Given the description of an element on the screen output the (x, y) to click on. 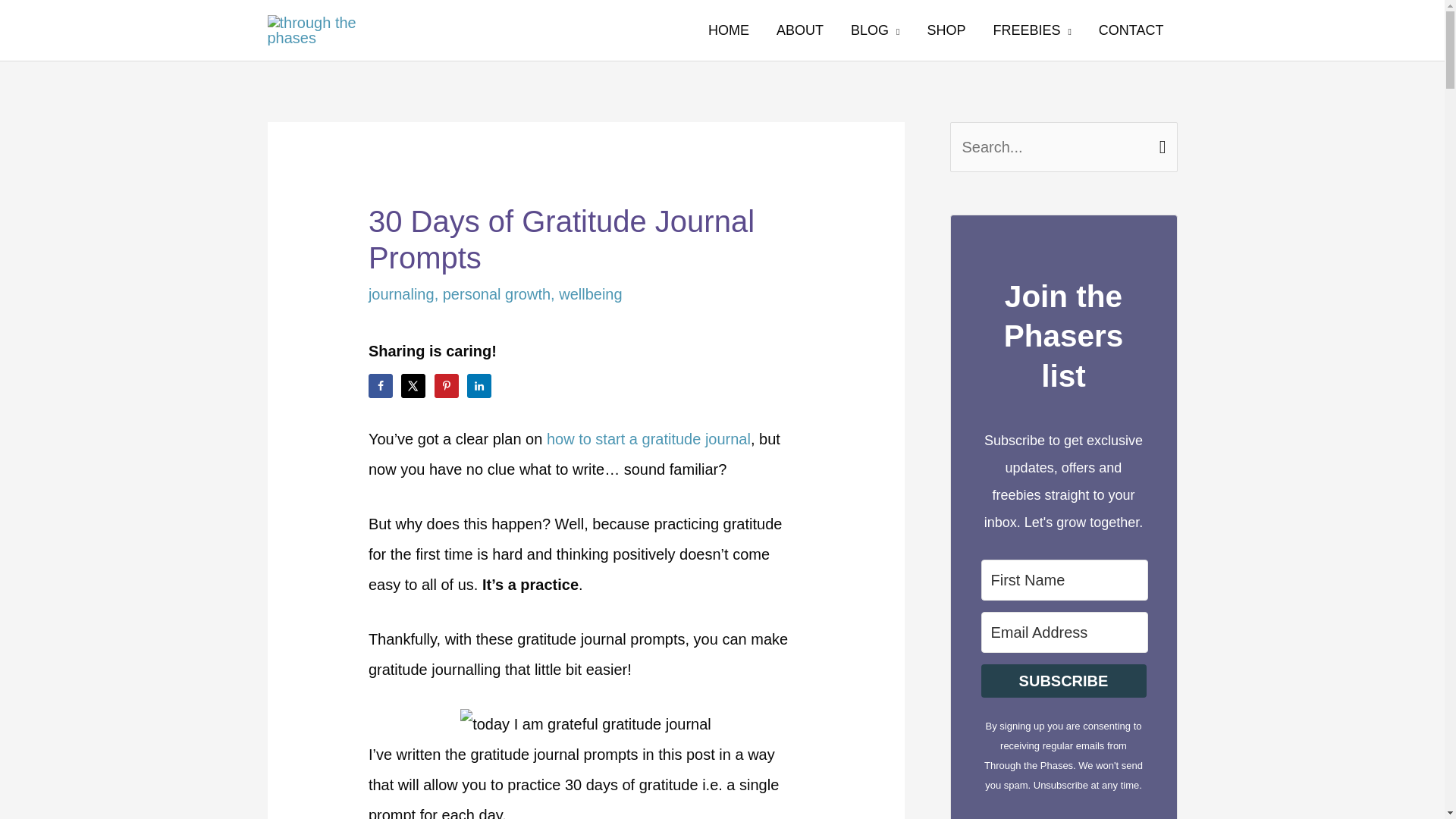
BLOG (874, 30)
Share on X (413, 385)
personal growth (496, 293)
journaling (400, 293)
Share on Facebook (380, 385)
CONTACT (1130, 30)
how to start a gratitude journal (649, 438)
wellbeing (590, 293)
Search (1159, 139)
Search (1159, 139)
ABOUT (799, 30)
Share on LinkedIn (479, 385)
SHOP (945, 30)
FREEBIES (1031, 30)
Save to Pinterest (445, 385)
